Given the description of an element on the screen output the (x, y) to click on. 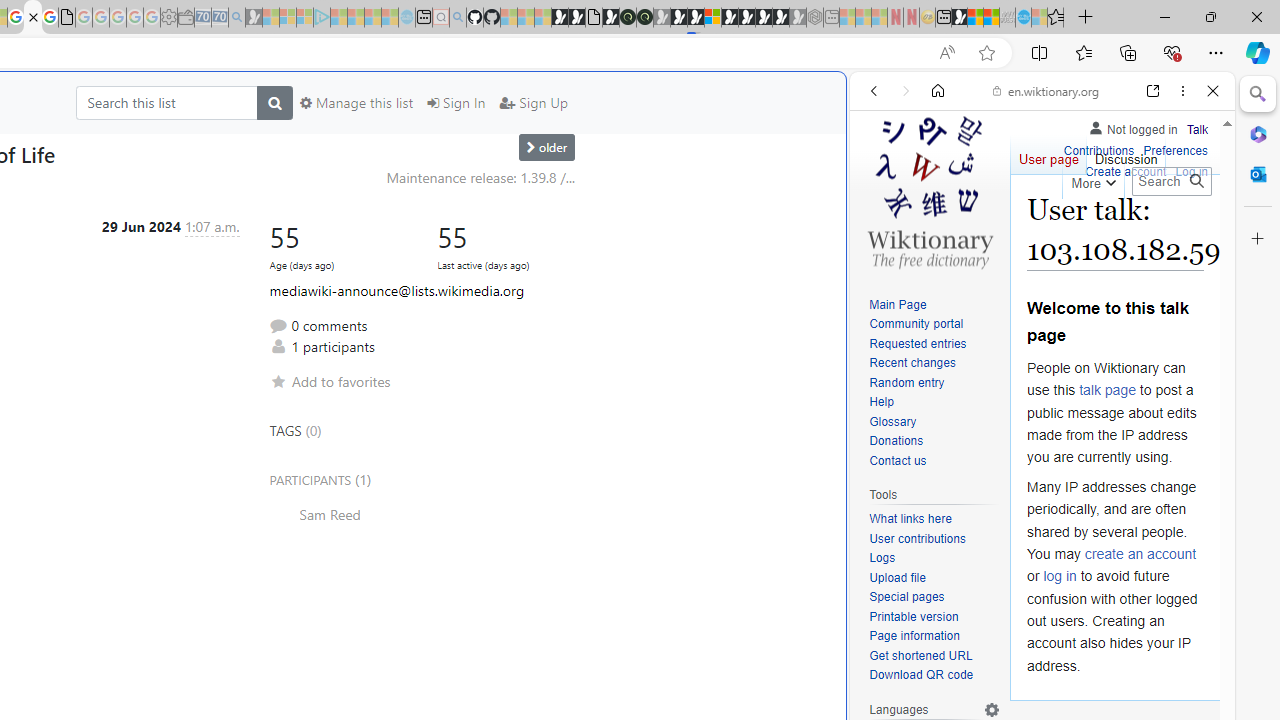
User contributions (917, 538)
Main Page (934, 305)
Search or enter web address (343, 191)
Donations (934, 442)
Download QR code (934, 676)
